Given the description of an element on the screen output the (x, y) to click on. 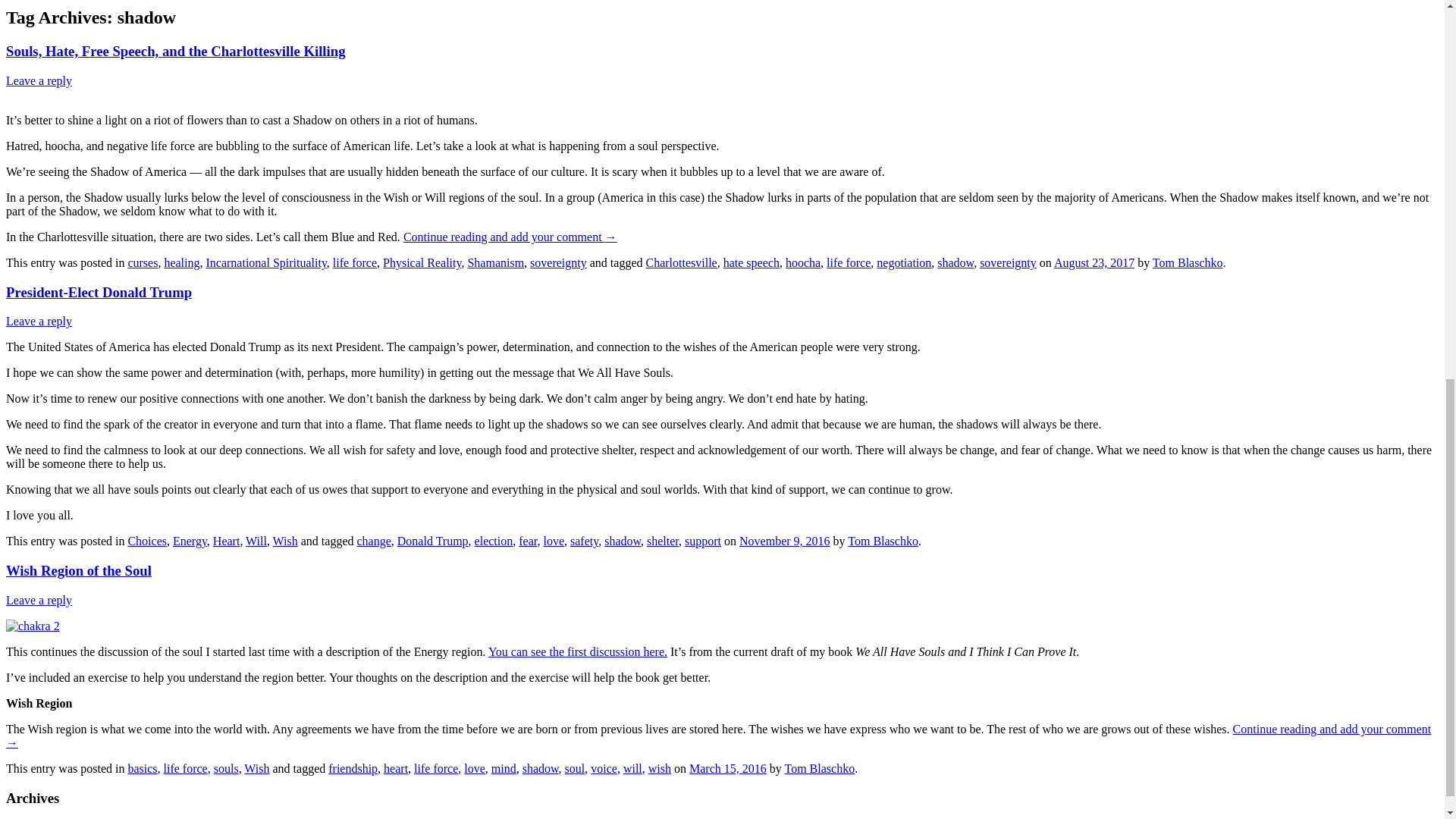
Permalink to Wish Region of the Soul (78, 570)
Permalink to President-Elect Donald Trump (98, 292)
11:00 am (1094, 262)
10:00 am (727, 768)
View all posts by Tom Blaschko (882, 540)
11:00 am (784, 540)
View all posts by Tom Blaschko (1188, 262)
View all posts by Tom Blaschko (819, 768)
